Given the description of an element on the screen output the (x, y) to click on. 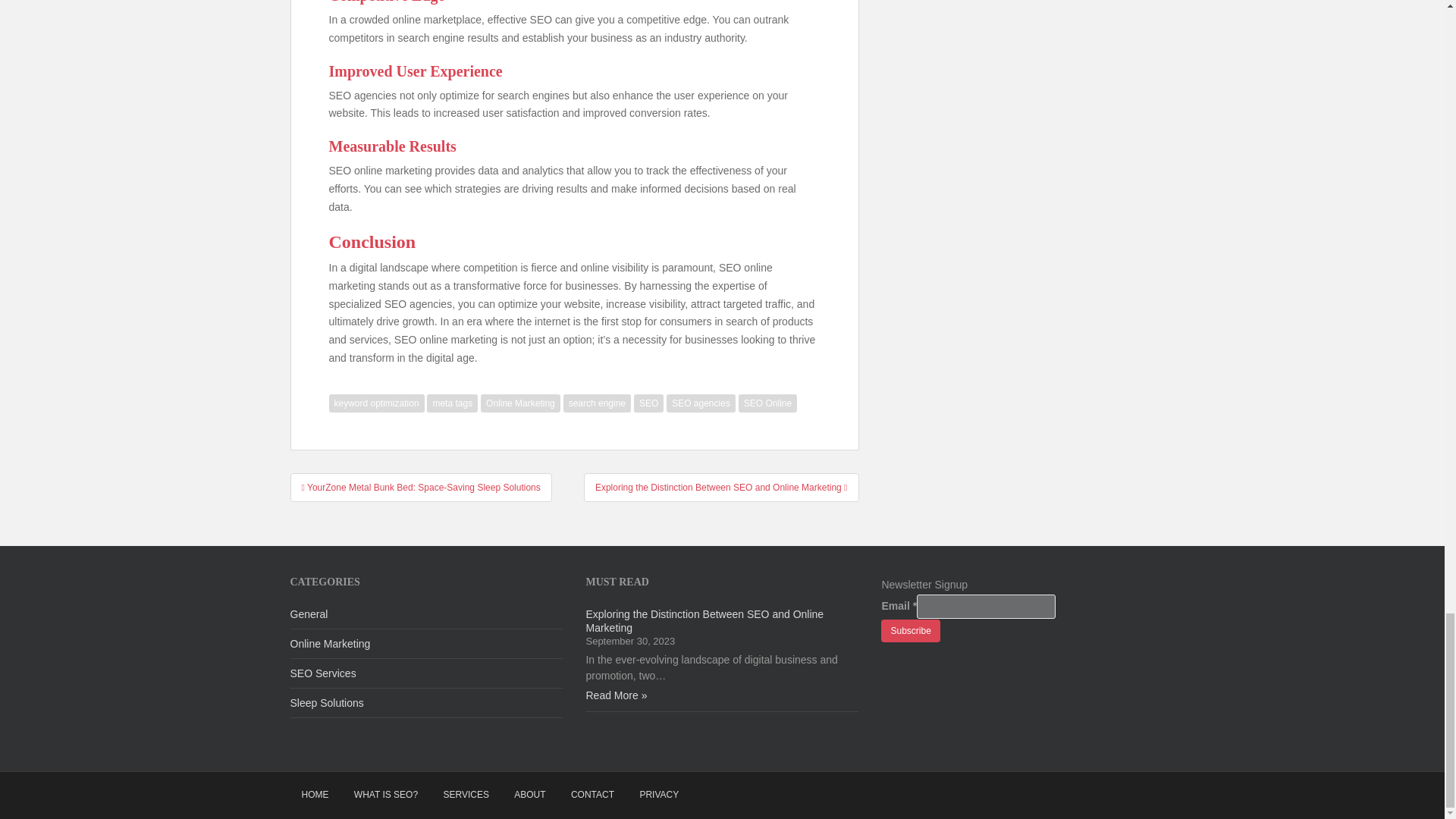
Online Marketing (520, 402)
meta tags (451, 402)
YourZone Metal Bunk Bed: Space-Saving Sleep Solutions (420, 487)
SEO (648, 402)
keyword optimization (377, 402)
SEO agencies (700, 402)
search engine (596, 402)
SEO Online (767, 402)
Exploring the Distinction Between SEO and Online Marketing (721, 487)
